Given the description of an element on the screen output the (x, y) to click on. 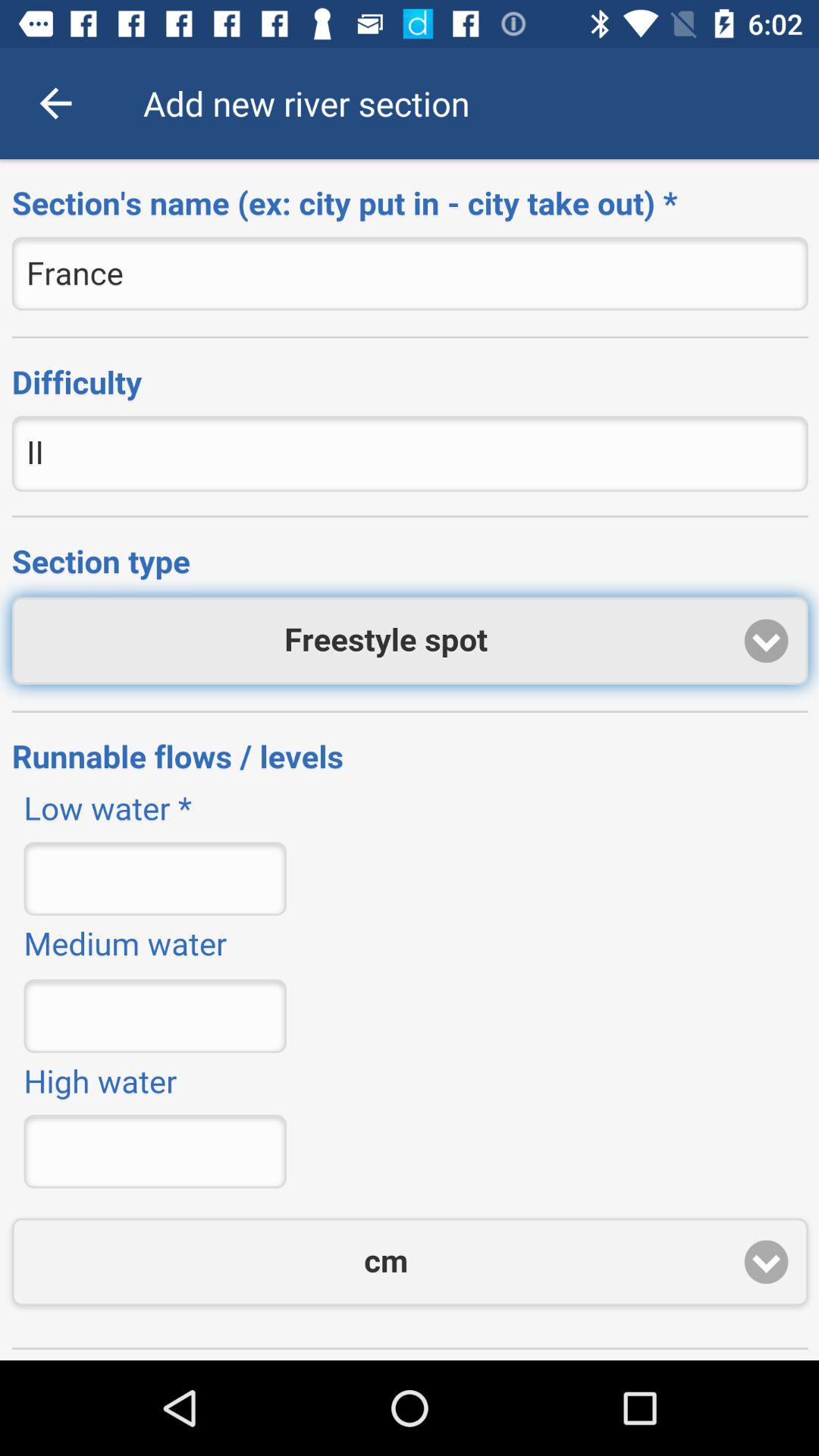
input data (409, 759)
